Given the description of an element on the screen output the (x, y) to click on. 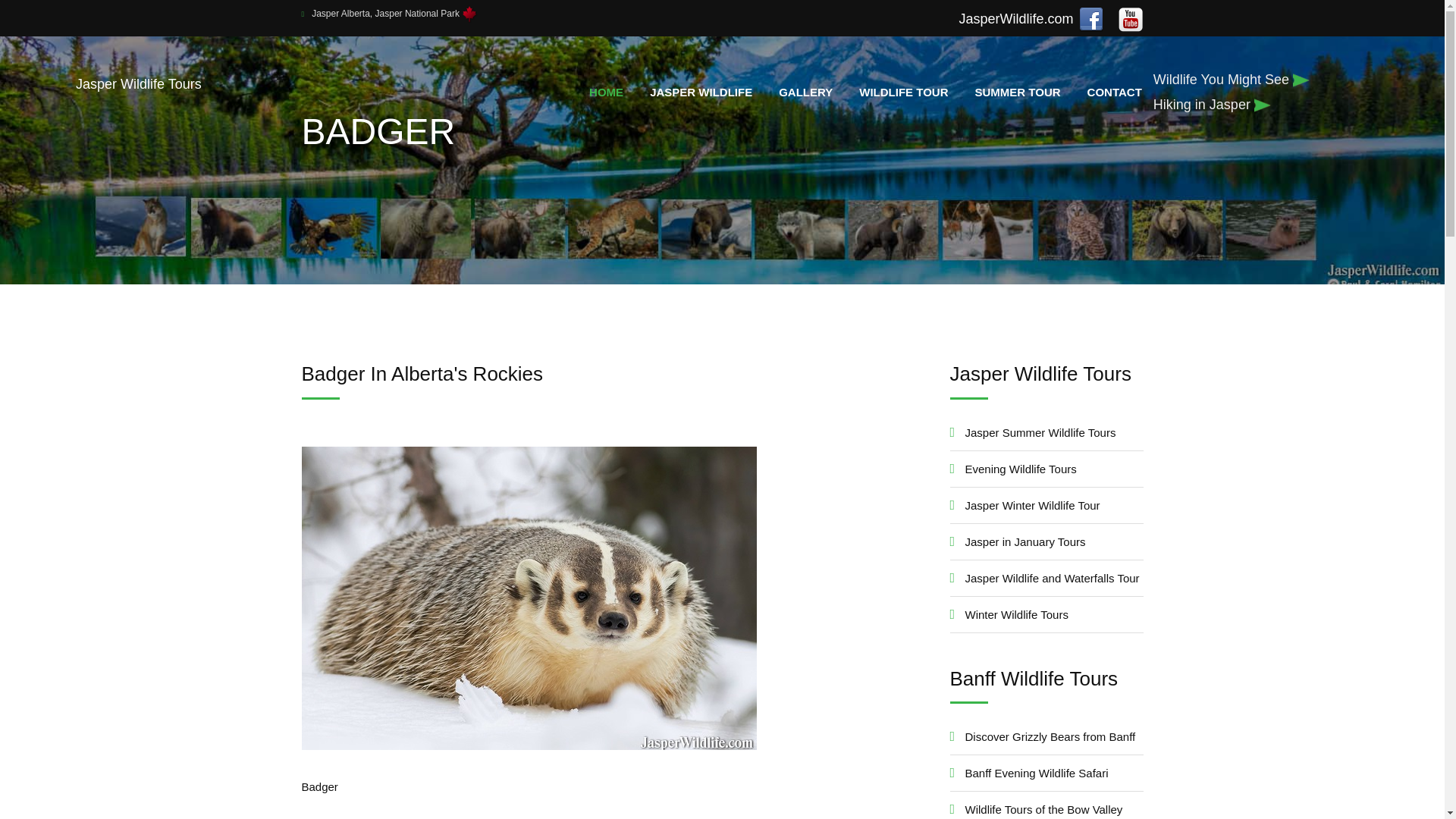
Jasper Wildlife Tours (236, 84)
JASPER WILDLIFE (700, 92)
